Given the description of an element on the screen output the (x, y) to click on. 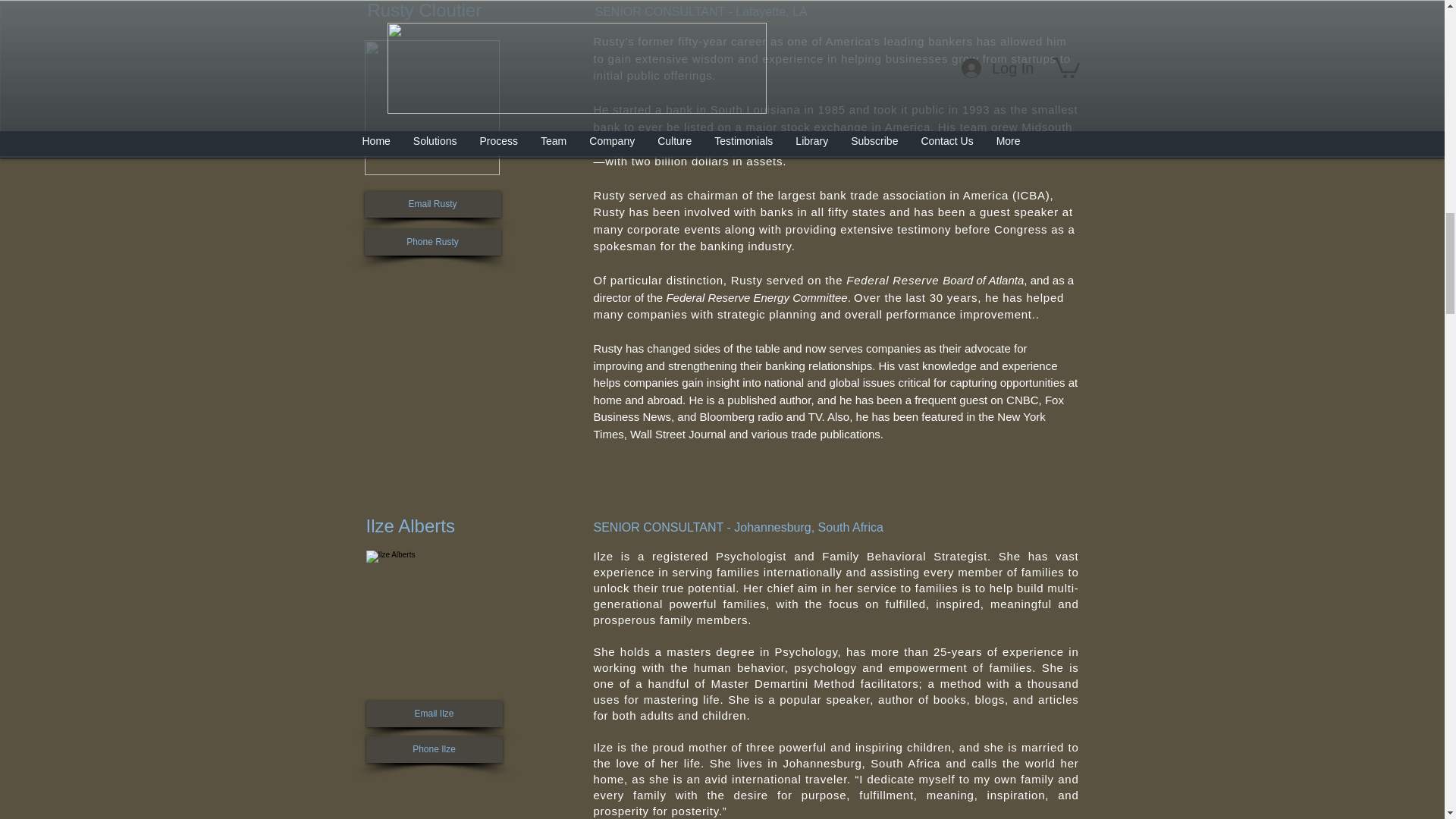
Email Rusty (432, 203)
Phone Ilze (433, 749)
Phone Rusty (432, 242)
Email Ilze (433, 714)
